Given the description of an element on the screen output the (x, y) to click on. 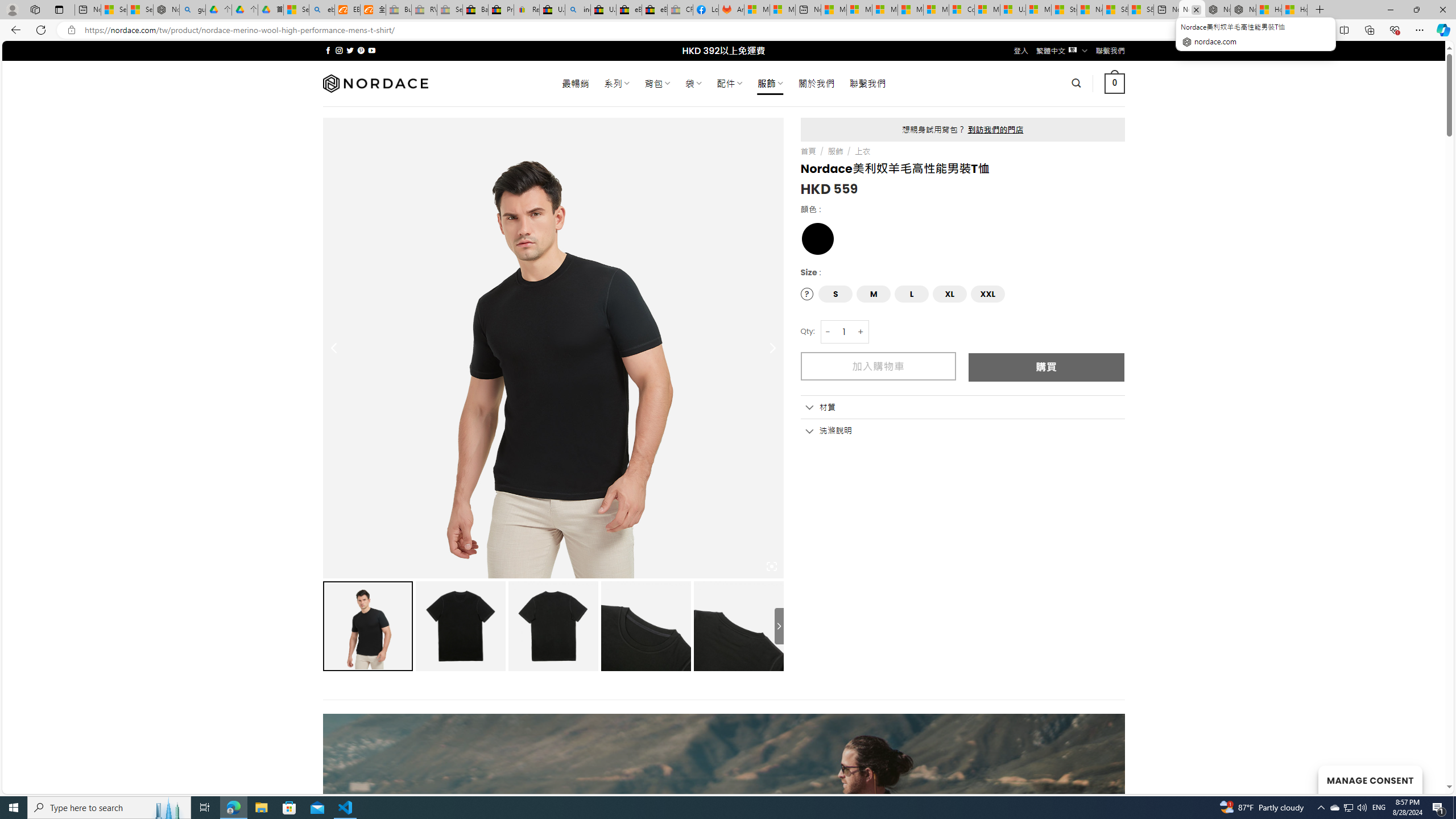
Follow on YouTube (371, 50)
Sell worldwide with eBay - Sleeping (449, 9)
S&P 500, Nasdaq end lower, weighed by Nvidia dip | Watch (1140, 9)
Settings and more (Alt+F) (1419, 29)
Close (1442, 9)
Read aloud this page (Ctrl+Shift+U) (1291, 29)
+ (861, 331)
Workspaces (34, 9)
